Given the description of an element on the screen output the (x, y) to click on. 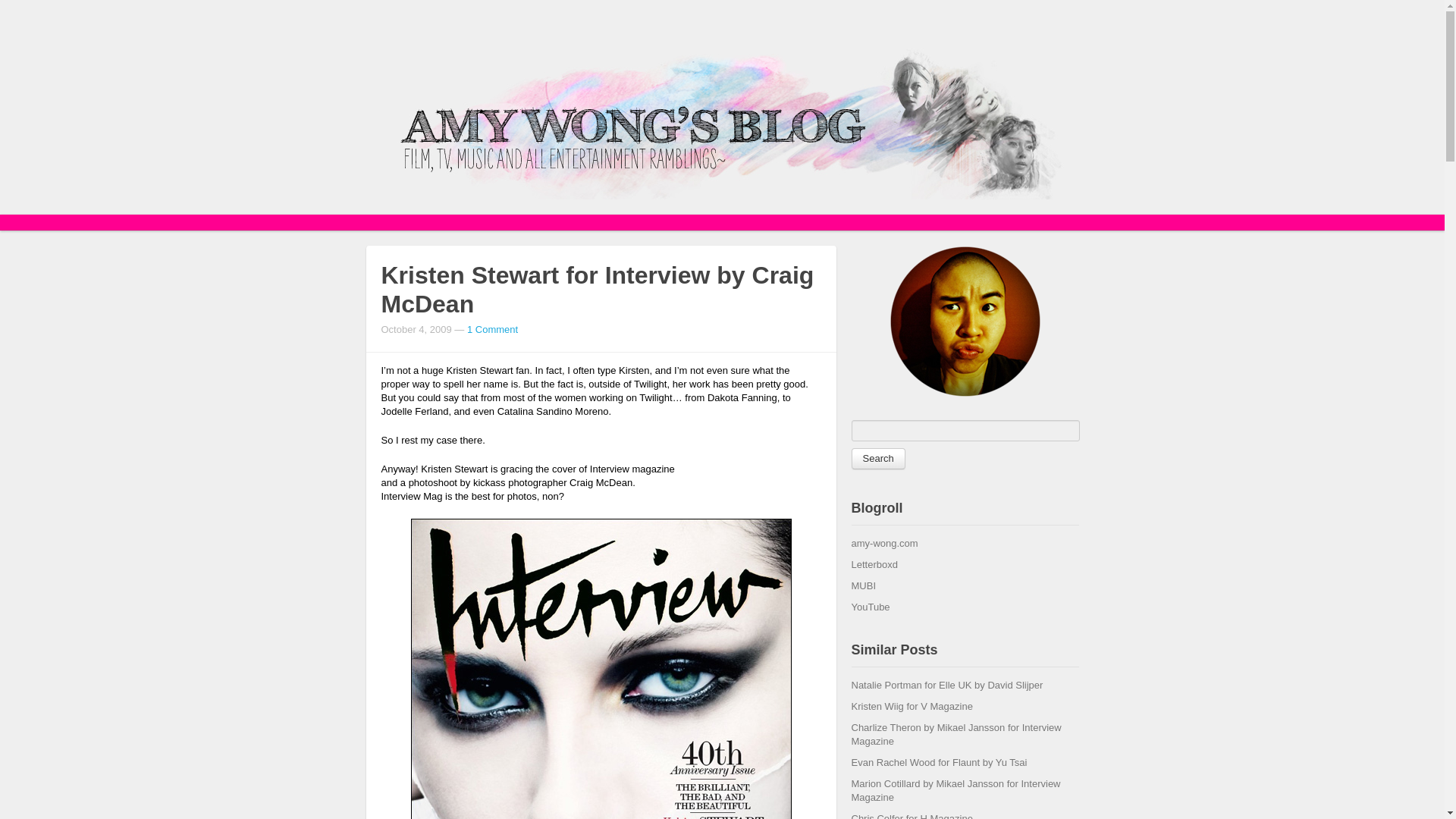
Chris Colfer for H Magazine (911, 816)
Charlize Theron by Mikael Jansson for Interview Magazine (955, 733)
Letterboxd (873, 564)
MUBI (863, 585)
YouTube (869, 606)
Marion Cotillard by Mikael Jansson for Interview Magazine (954, 790)
Search (877, 458)
January 4, 2010 (946, 685)
Evan Rachel Wood for Flaunt by Yu Tsai (938, 762)
Search (877, 458)
Kristen Wiig for V Magazine (911, 706)
amy-wong.com (883, 542)
January 12, 2010 (911, 816)
August 18, 2009 (938, 762)
March 11, 2010 (911, 706)
